Given the description of an element on the screen output the (x, y) to click on. 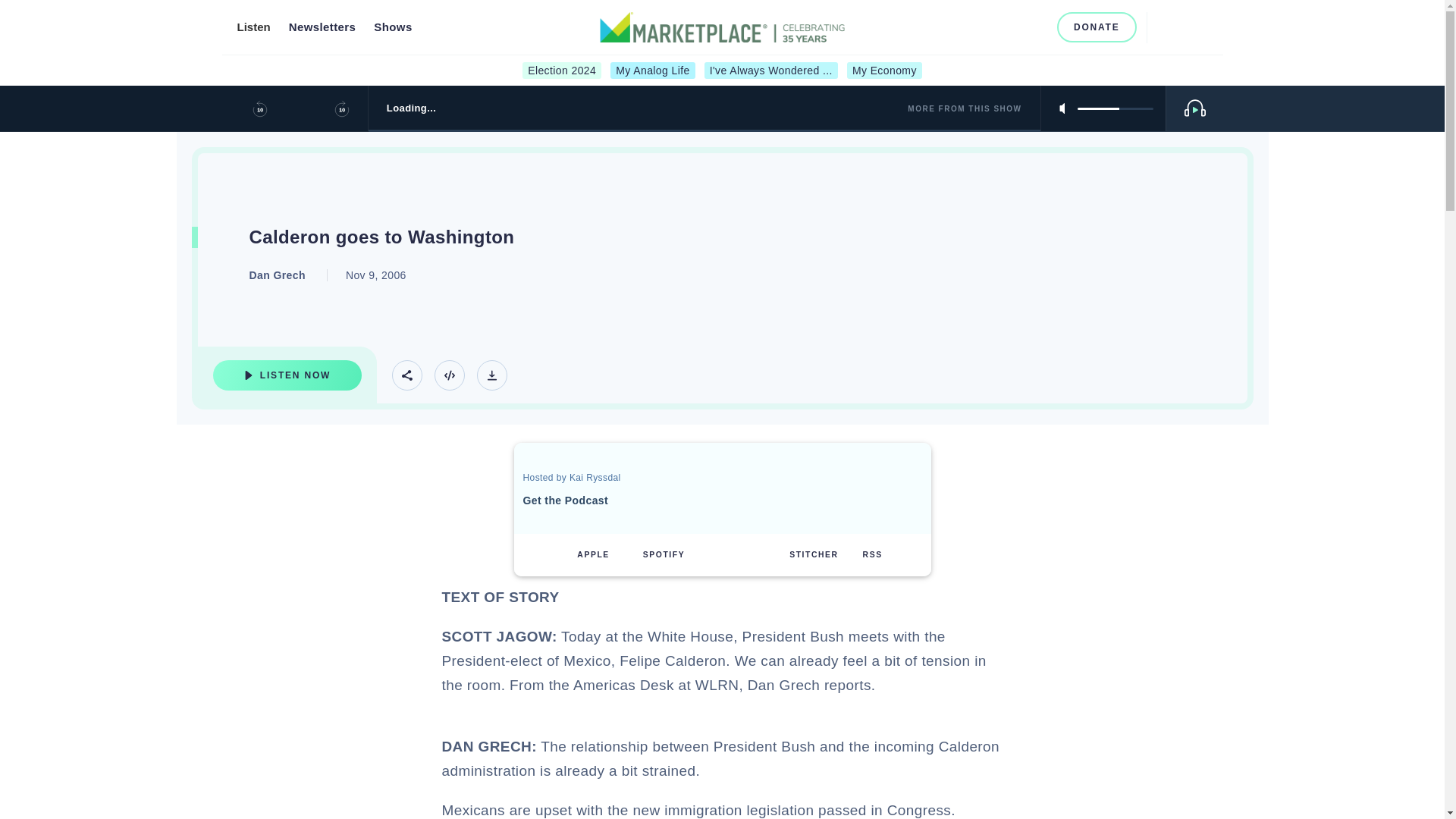
Shows (393, 26)
Instagram (985, 27)
Listen (252, 26)
Facebook (962, 27)
Listen Now (286, 374)
Menu (1198, 27)
DONATE (1097, 27)
Search (1164, 27)
5 (1115, 108)
Newsletters (322, 27)
TikTok (1035, 27)
volume (1115, 108)
Download Track (491, 374)
Youtube (1011, 27)
